Given the description of an element on the screen output the (x, y) to click on. 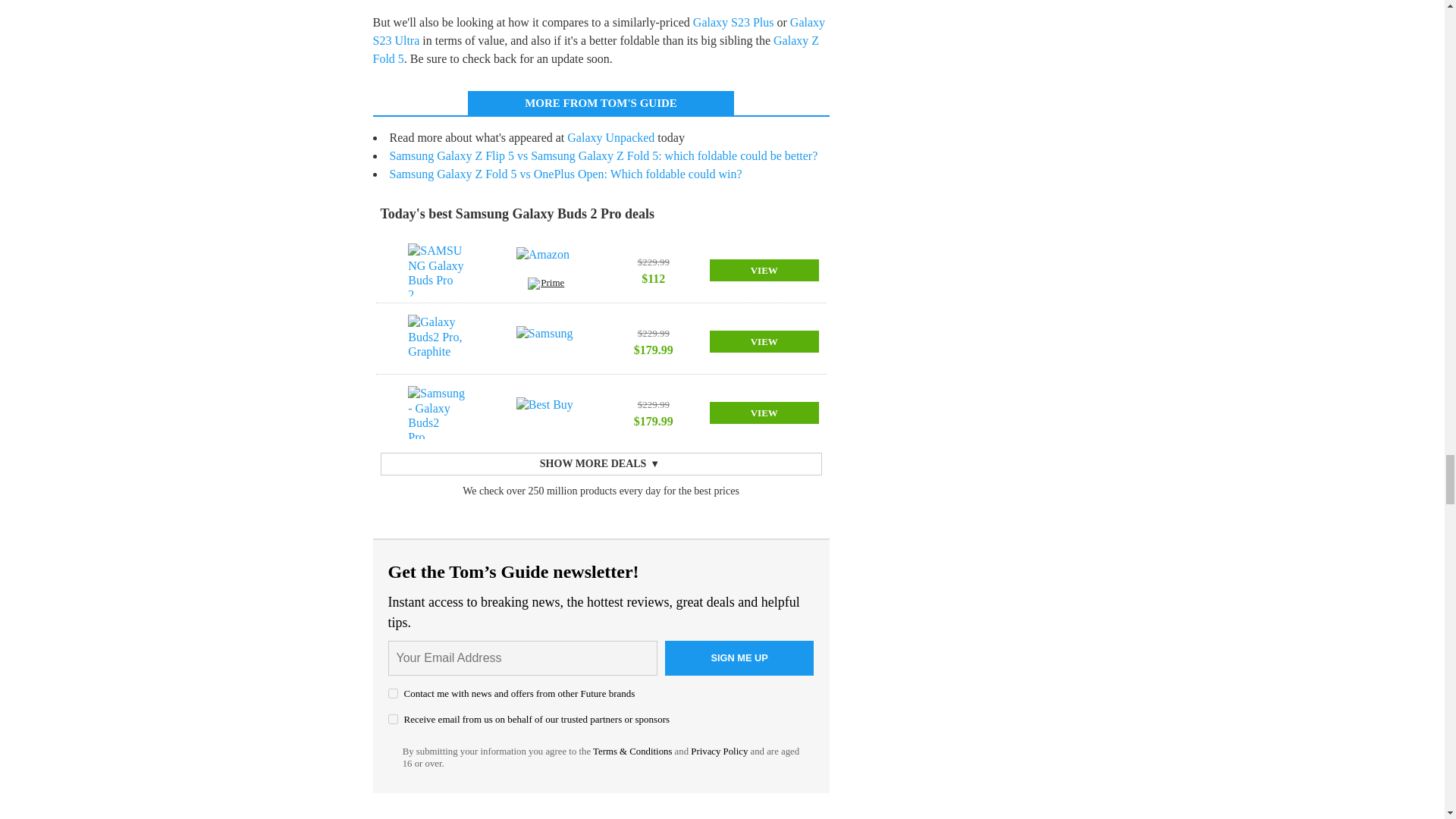
SAMSUNG Galaxy Buds Pro 2... (437, 269)
Galaxy Buds2 Pro, Graphite (437, 340)
Sign me up (739, 657)
on (392, 718)
Samsung - Galaxy Buds2 Pro... (437, 411)
Amazon (546, 262)
Samsung (546, 340)
Best Buy (546, 412)
on (392, 693)
Prime (546, 285)
